Given the description of an element on the screen output the (x, y) to click on. 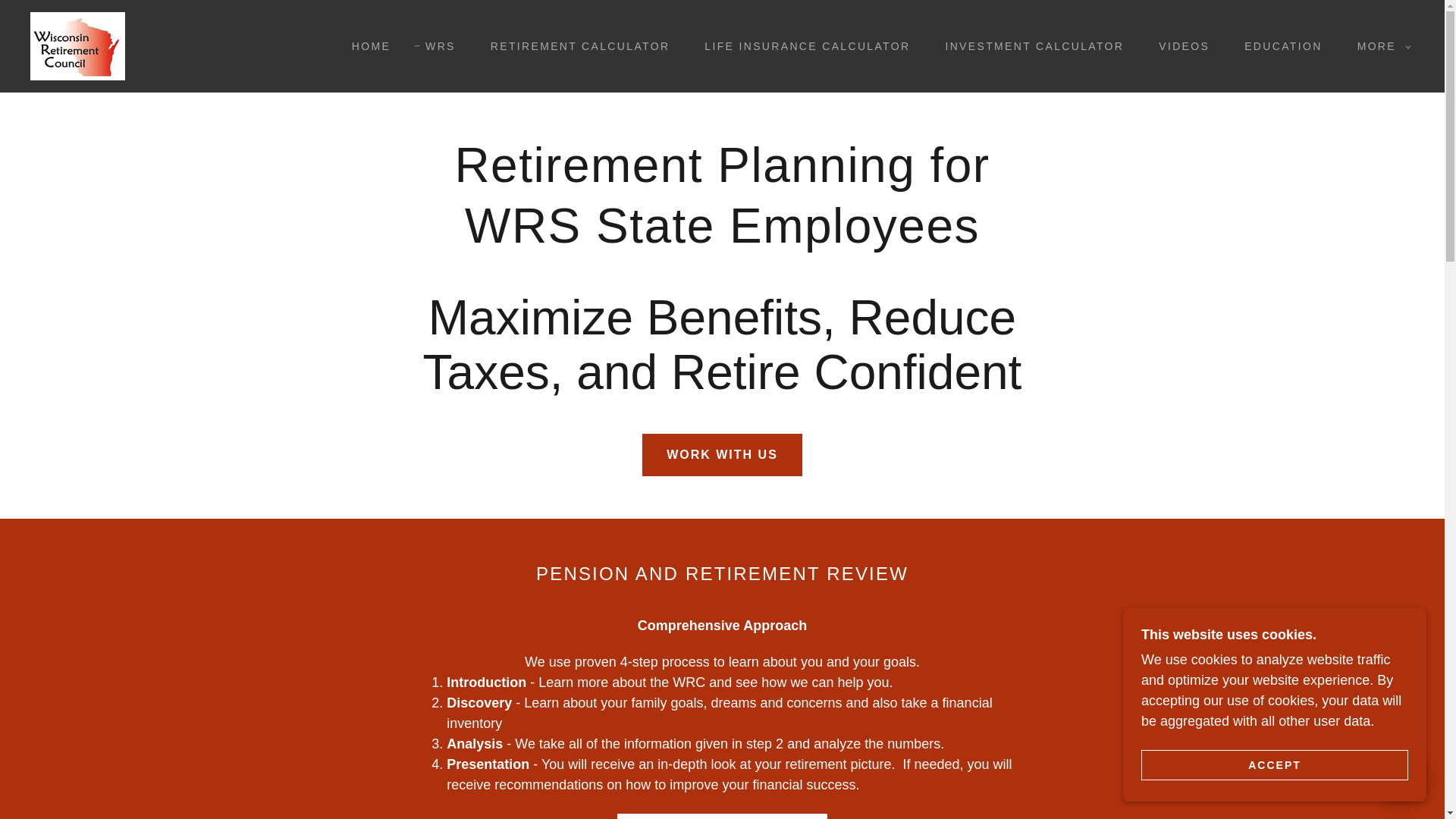
WRS (434, 45)
LIFE INSURANCE CALCULATOR (801, 45)
RETIREMENT CALCULATOR (575, 45)
HOME (365, 45)
LET'S HAVE A REVIEW (722, 816)
VIDEOS (1178, 45)
WORK WITH US (722, 454)
INVESTMENT CALCULATOR (1029, 45)
MORE (1379, 45)
EDUCATION (1277, 45)
